Given the description of an element on the screen output the (x, y) to click on. 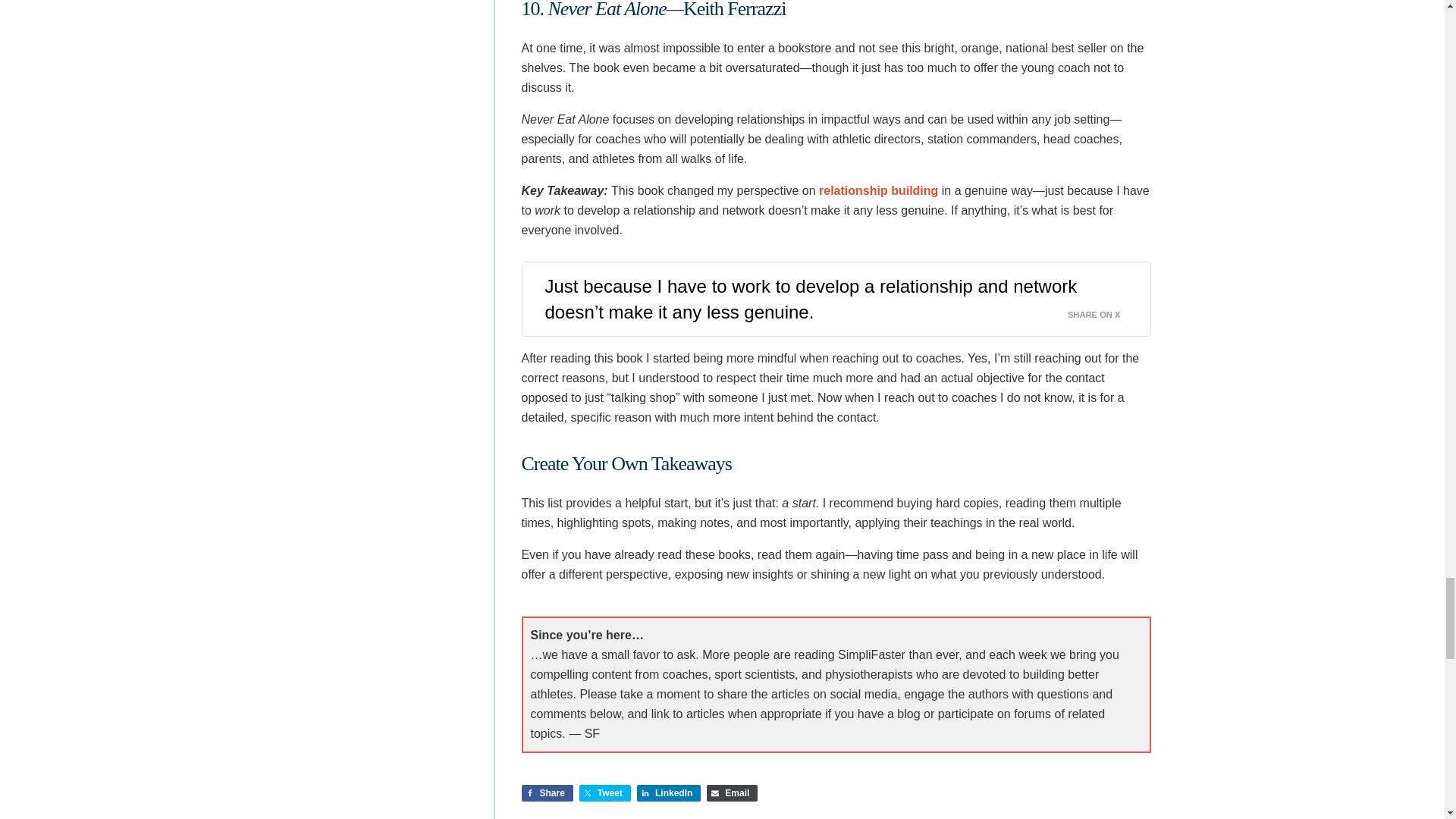
Share on Twitter (604, 792)
Share on LinkedIn (668, 792)
Email (731, 792)
Share on Facebook (547, 792)
Share via Email (731, 792)
